Given the description of an element on the screen output the (x, y) to click on. 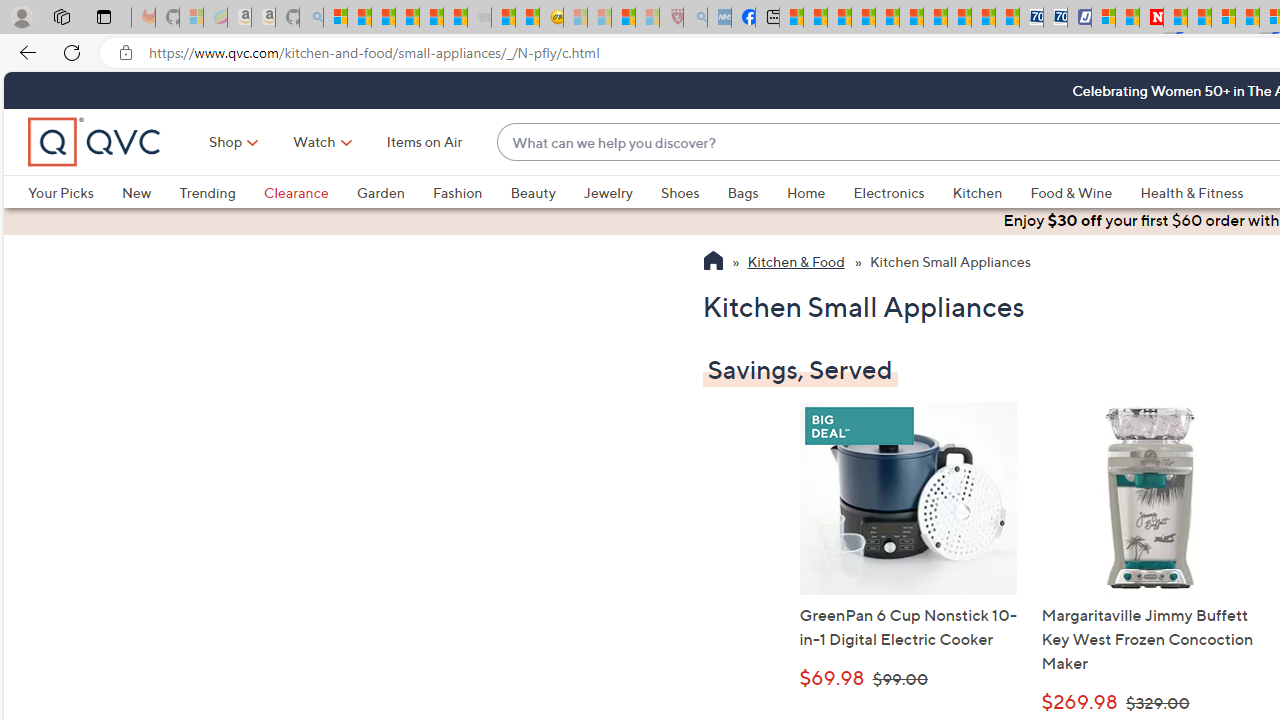
Bags (743, 192)
Shoes (694, 192)
Clearance (309, 192)
Bags (757, 192)
Health & Fitness (1192, 192)
Shop (226, 141)
Jewelry (621, 192)
